Given the description of an element on the screen output the (x, y) to click on. 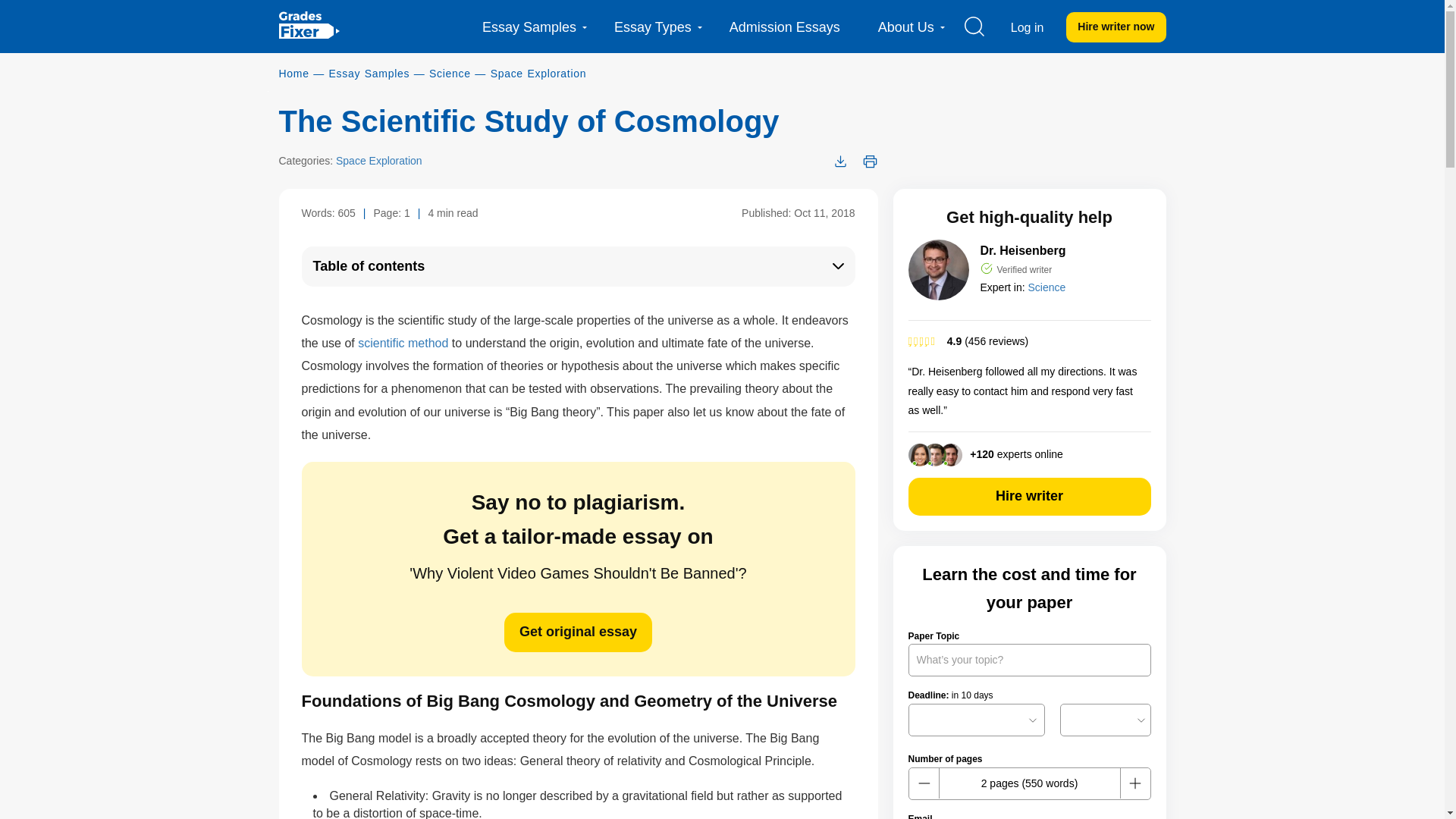
4 (1029, 341)
search (973, 26)
